Given the description of an element on the screen output the (x, y) to click on. 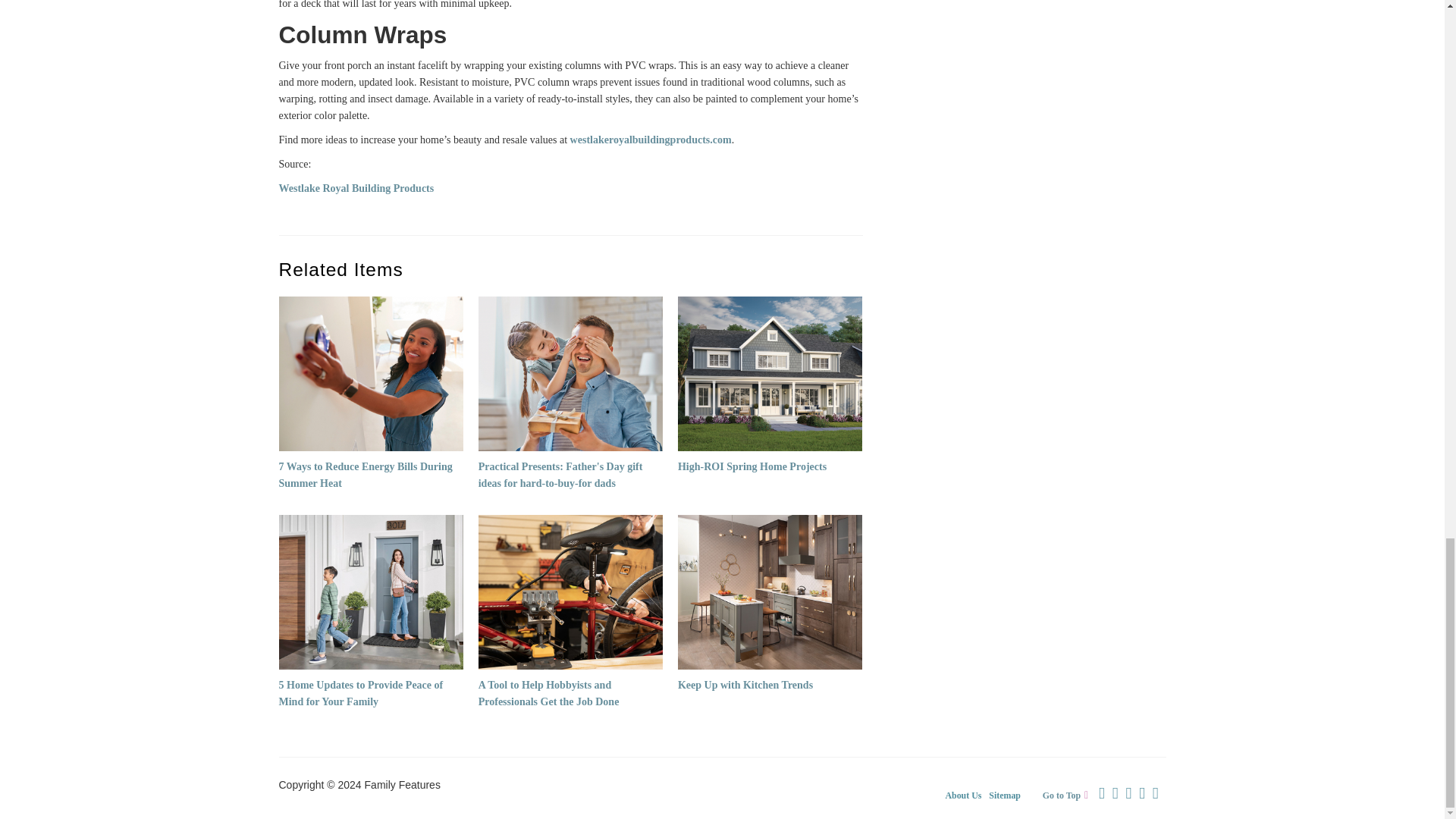
westlakeroyalbuildingproducts.com (651, 139)
Westlake Royal Building Products (356, 188)
Go to Top (1069, 795)
